Given the description of an element on the screen output the (x, y) to click on. 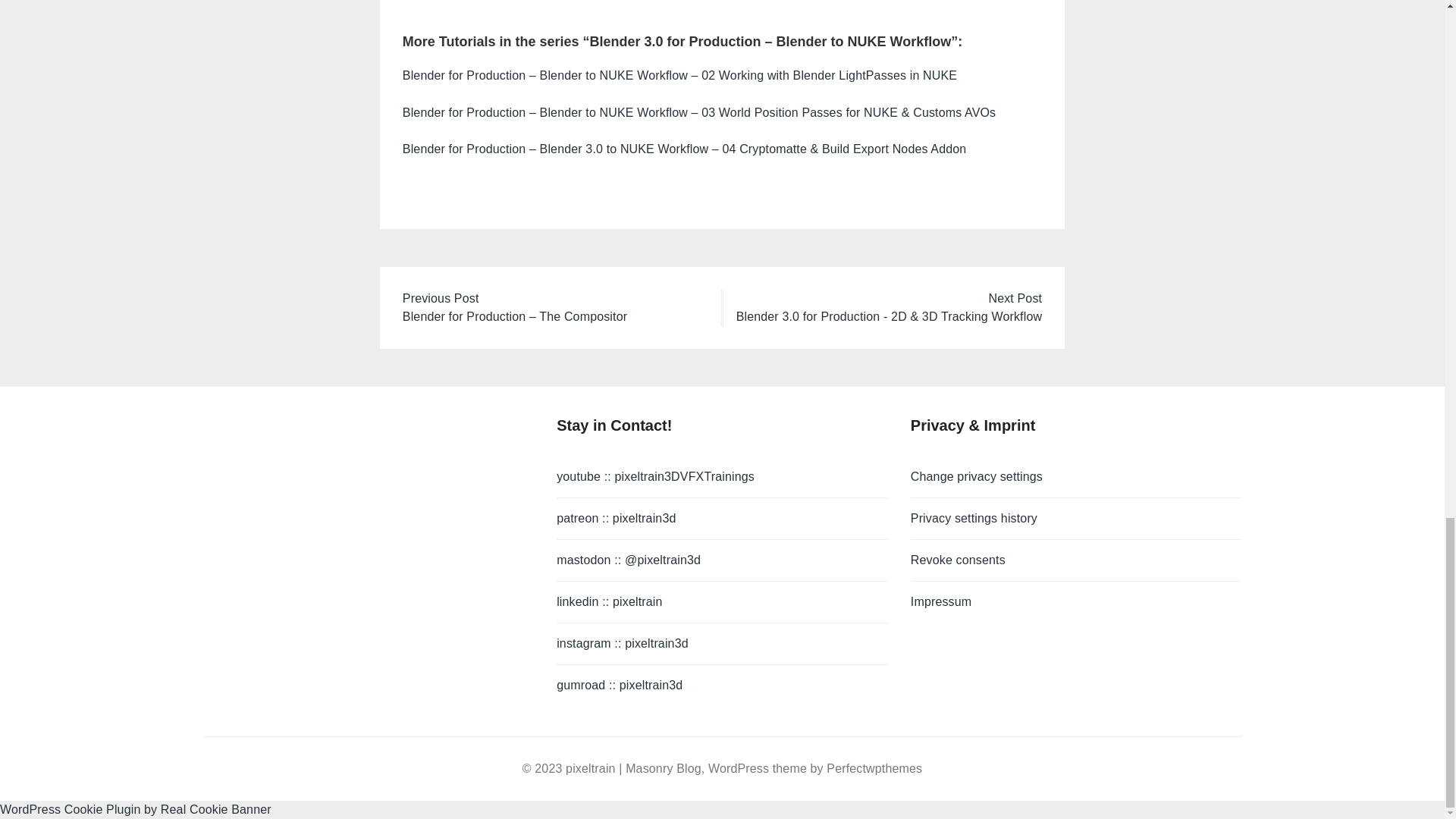
gumroad :: pixeltrain3d (722, 685)
Privacy settings history (1076, 518)
youtube :: pixeltrain3DVFXTrainings (722, 476)
instagram :: pixeltrain3d (722, 644)
Change privacy settings (1076, 476)
patreon :: pixeltrain3d (722, 518)
linkedin :: pixeltrain (722, 602)
